Given the description of an element on the screen output the (x, y) to click on. 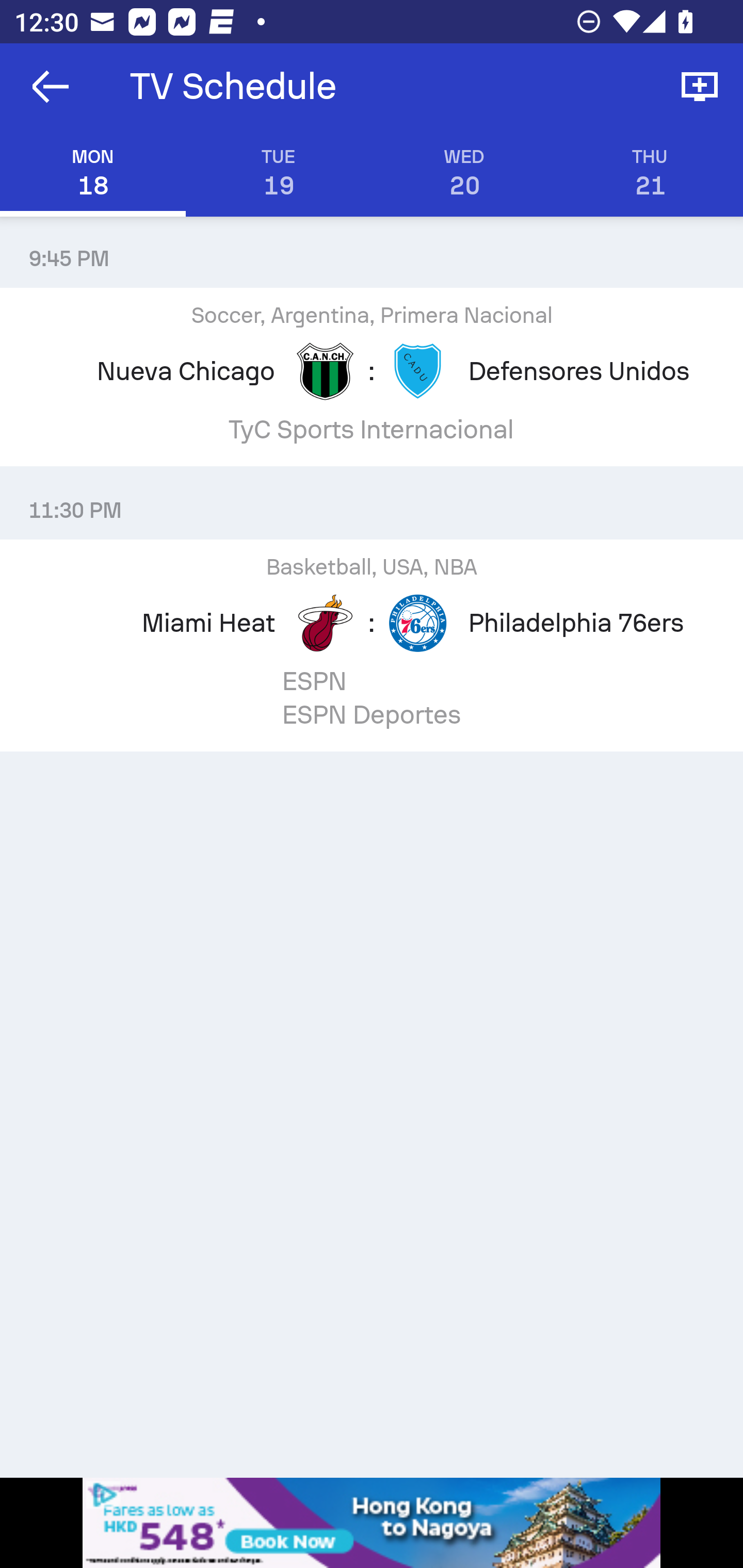
Navigate up (50, 86)
Edit channels (699, 86)
TUE 19 (278, 173)
WED 20 (464, 173)
THU 21 (650, 173)
9:45 PM (371, 250)
11:30 PM (371, 502)
wi46309w_320x50 (371, 1522)
